Given the description of an element on the screen output the (x, y) to click on. 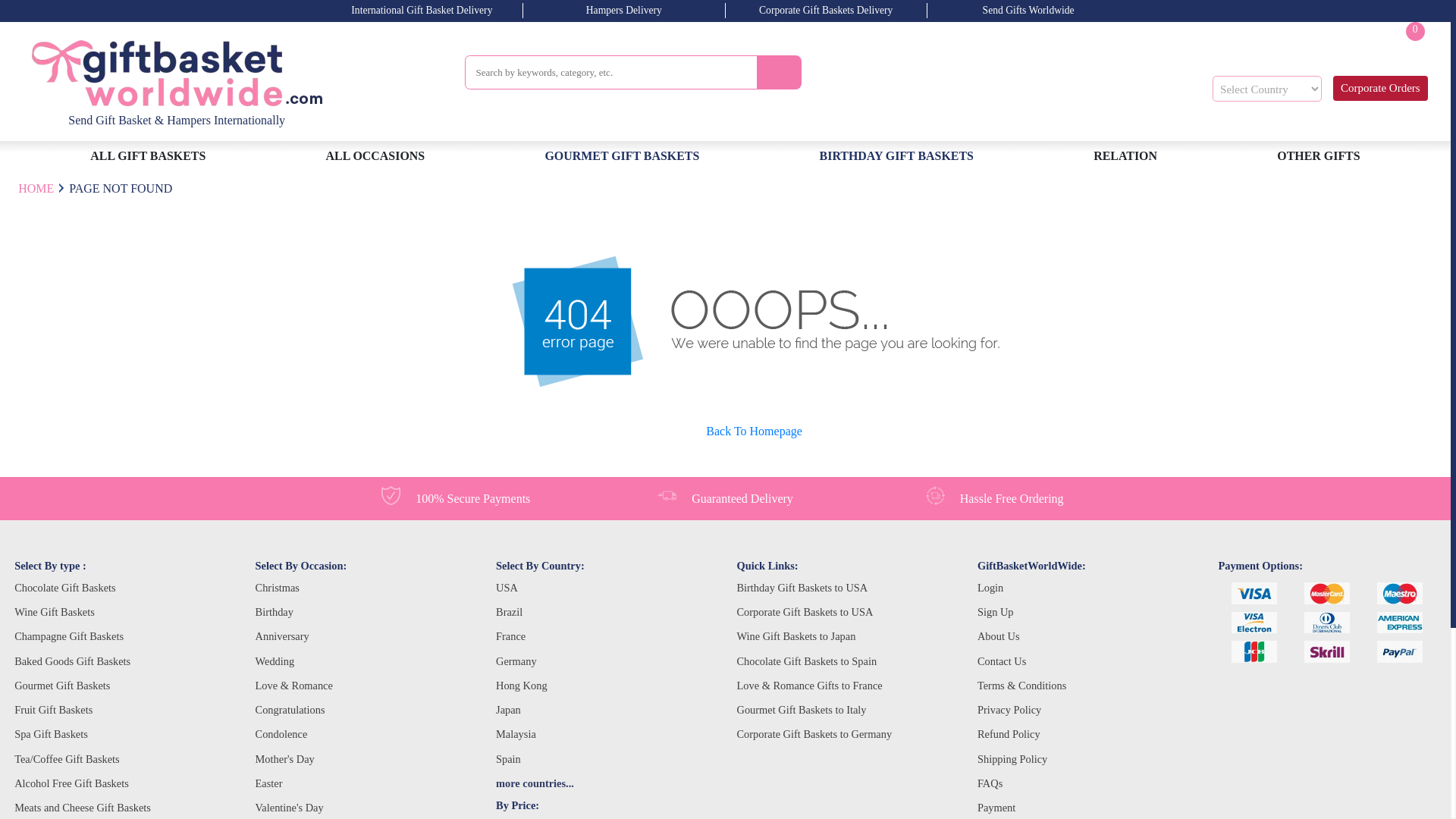
BIRTHDAY GIFT BASKETS (896, 156)
ALL GIFT BASKETS (148, 156)
Corporate Orders (1380, 88)
3 characters minimum (610, 72)
CONTACT US (1300, 53)
ALL OCCASIONS (374, 156)
GOURMET GIFT BASKETS (1404, 53)
RELATION (622, 156)
